Given the description of an element on the screen output the (x, y) to click on. 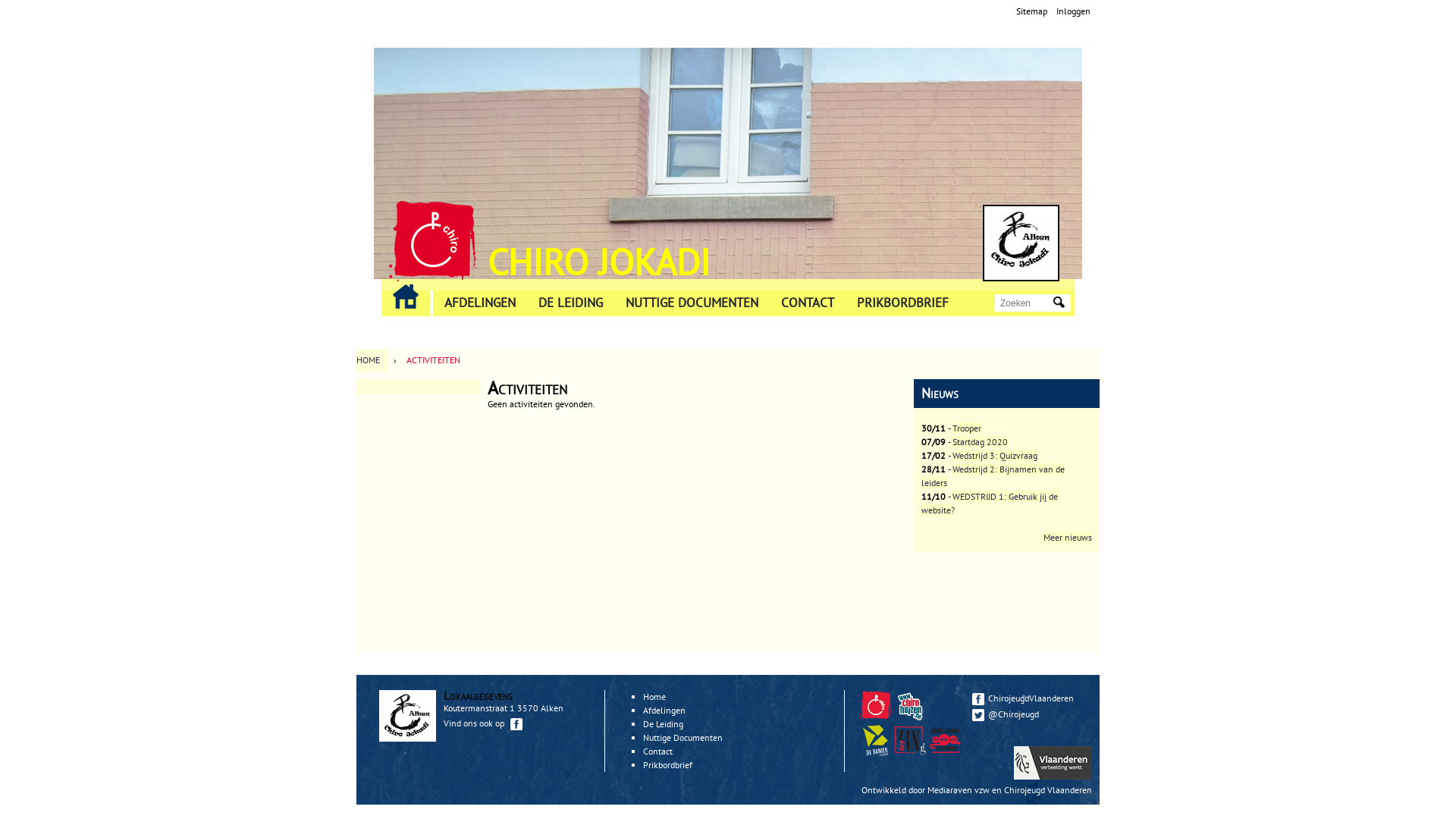
Chirojeugd Vlaanderen Element type: hover (876, 717)
Startdag 2020 Element type: text (979, 441)
De Banier Element type: hover (876, 752)
Wedstrijd 3: Quizvraag Element type: text (994, 455)
Contact Element type: text (657, 750)
DE LEIDING Element type: text (570, 303)
Chirohuizen Element type: hover (909, 705)
Mediaraven vzw Element type: text (958, 789)
De Banier Element type: hover (875, 740)
Home Element type: text (654, 696)
Facebook Element type: hover (516, 724)
PRIKBORDBRIEF Element type: text (902, 303)
De Leiding Element type: text (663, 723)
Prikbordbrief Element type: text (667, 764)
Home Element type: hover (1020, 242)
Zindering Element type: hover (911, 752)
WEDSTRIJD 1: Gebruik jij de website? Element type: text (989, 502)
AFDELINGEN Element type: text (480, 303)
Chirohuizen Element type: hover (911, 717)
Twitter Element type: hover (978, 715)
@Chirojeugd Element type: text (1028, 713)
ChirojeugdVlaanderen Element type: text (1028, 698)
Nuttige Documenten Element type: text (682, 737)
Chirojeugd Vlaanderen Element type: hover (875, 705)
Zindering Element type: hover (909, 740)
Inloggen Element type: text (1073, 10)
HOME Element type: text (371, 359)
Chirojeugd Vlaanderen Element type: text (1048, 789)
NUTTIGE DOCUMENTEN Element type: text (691, 303)
Afdelingen Element type: text (664, 709)
Verbond Limburg Element type: hover (944, 740)
Meer nieuws Element type: text (1067, 536)
CHIRO JOKADI Element type: text (598, 261)
Wedstrijd 2: Bijnamen van de leiders Element type: text (992, 475)
CONTACT Element type: text (807, 303)
Sitemap Element type: text (1031, 10)
HOME Element type: text (405, 296)
Geef de woorden op waarnaar u wilt zoeken. Element type: hover (1024, 302)
Home Element type: hover (432, 240)
Zindering Element type: hover (946, 752)
Trooper Element type: text (966, 427)
Facebook Element type: hover (978, 699)
